Given the description of an element on the screen output the (x, y) to click on. 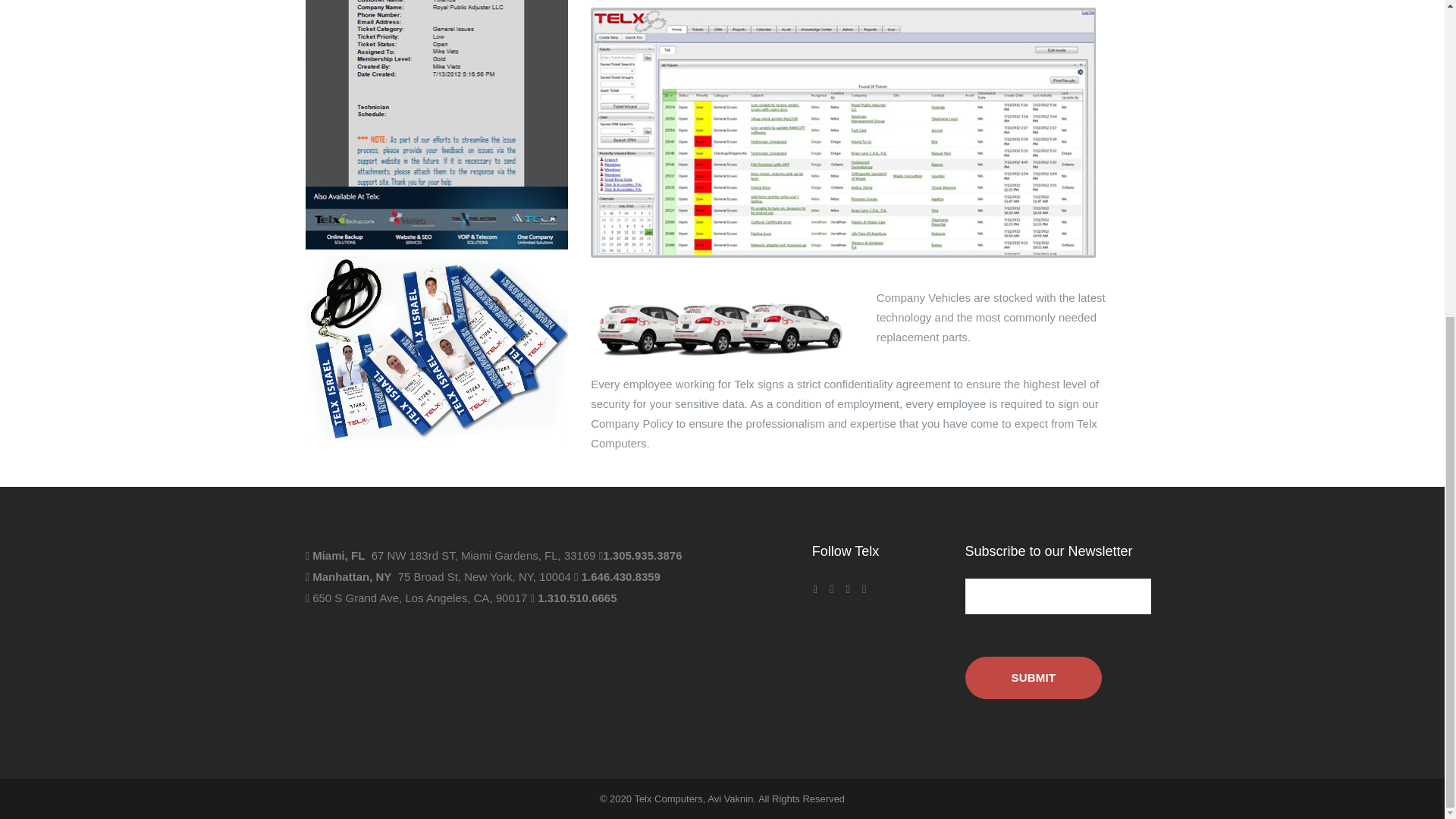
Submit (1032, 677)
